Given the description of an element on the screen output the (x, y) to click on. 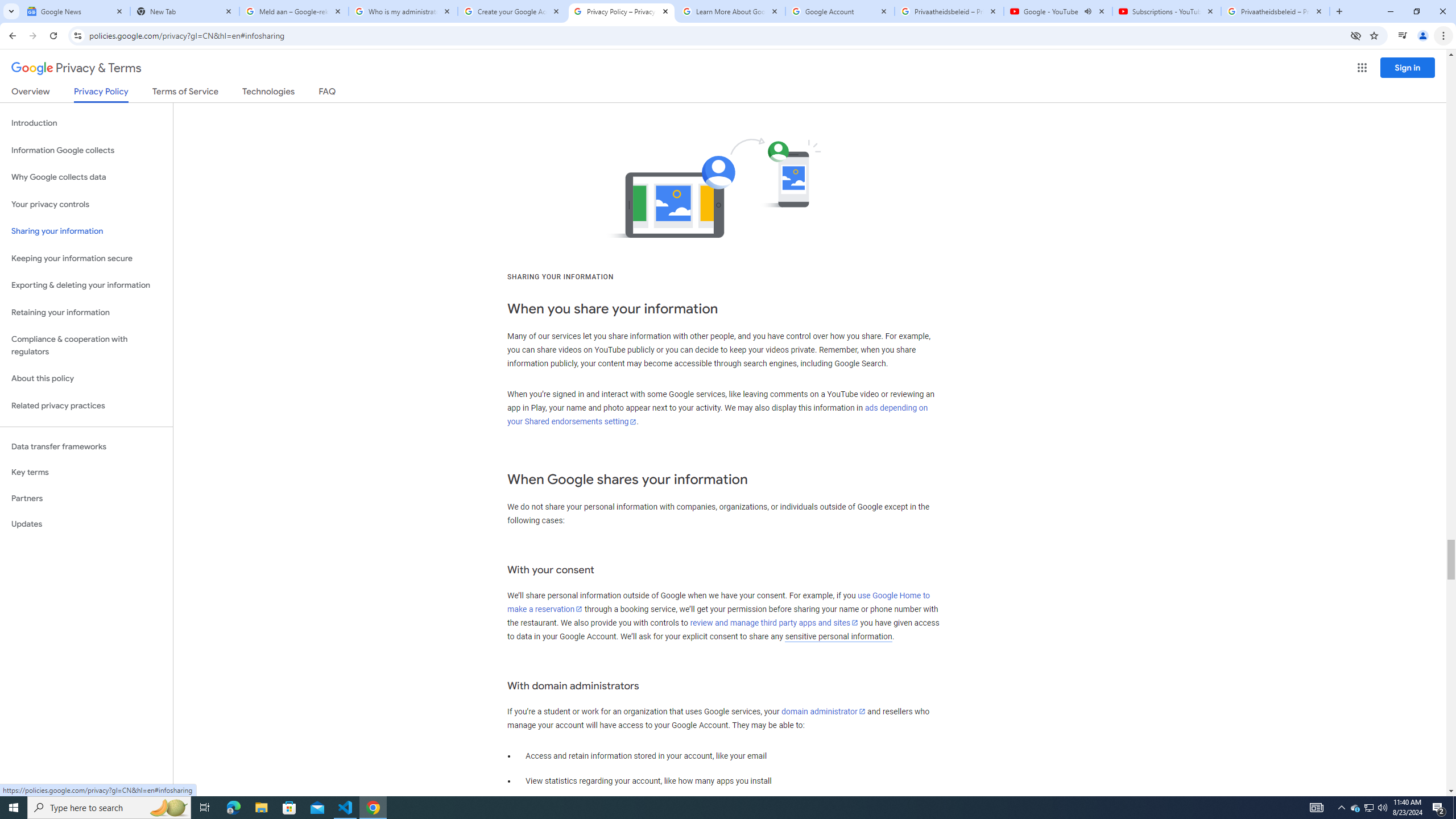
Keeping your information secure (86, 258)
Exporting & deleting your information (86, 284)
use Google Home to make a reservation (718, 602)
Google News (75, 11)
ads depending on your Shared endorsements setting (717, 414)
